Given the description of an element on the screen output the (x, y) to click on. 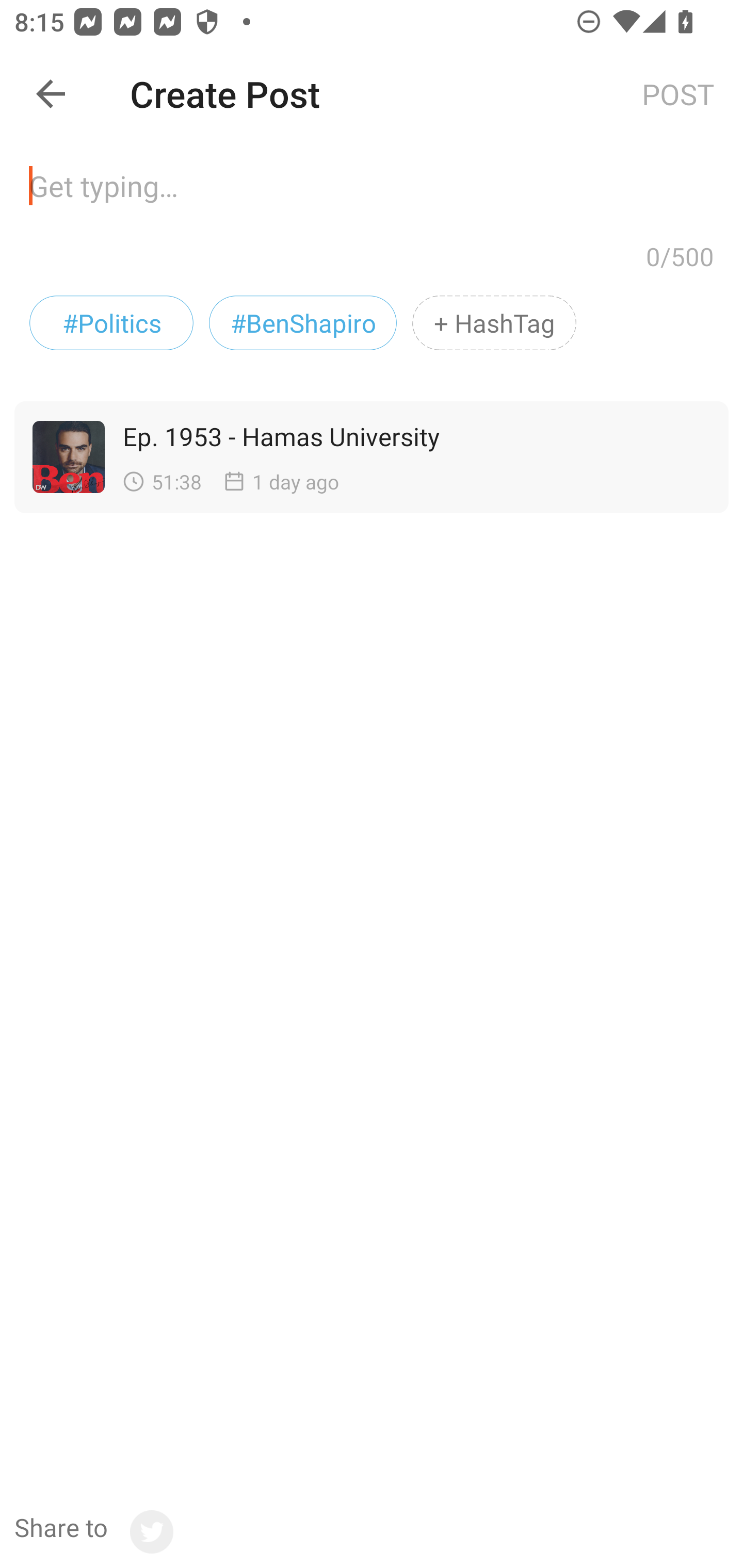
Navigate up (50, 93)
POST (677, 92)
Get typing… (371, 191)
#Politics (110, 322)
#BenShapiro (302, 322)
+ HashTag (493, 322)
Ep. 1953 - Hamas University 1 51:38  1 day ago (362, 456)
Share to (93, 1531)
